Given the description of an element on the screen output the (x, y) to click on. 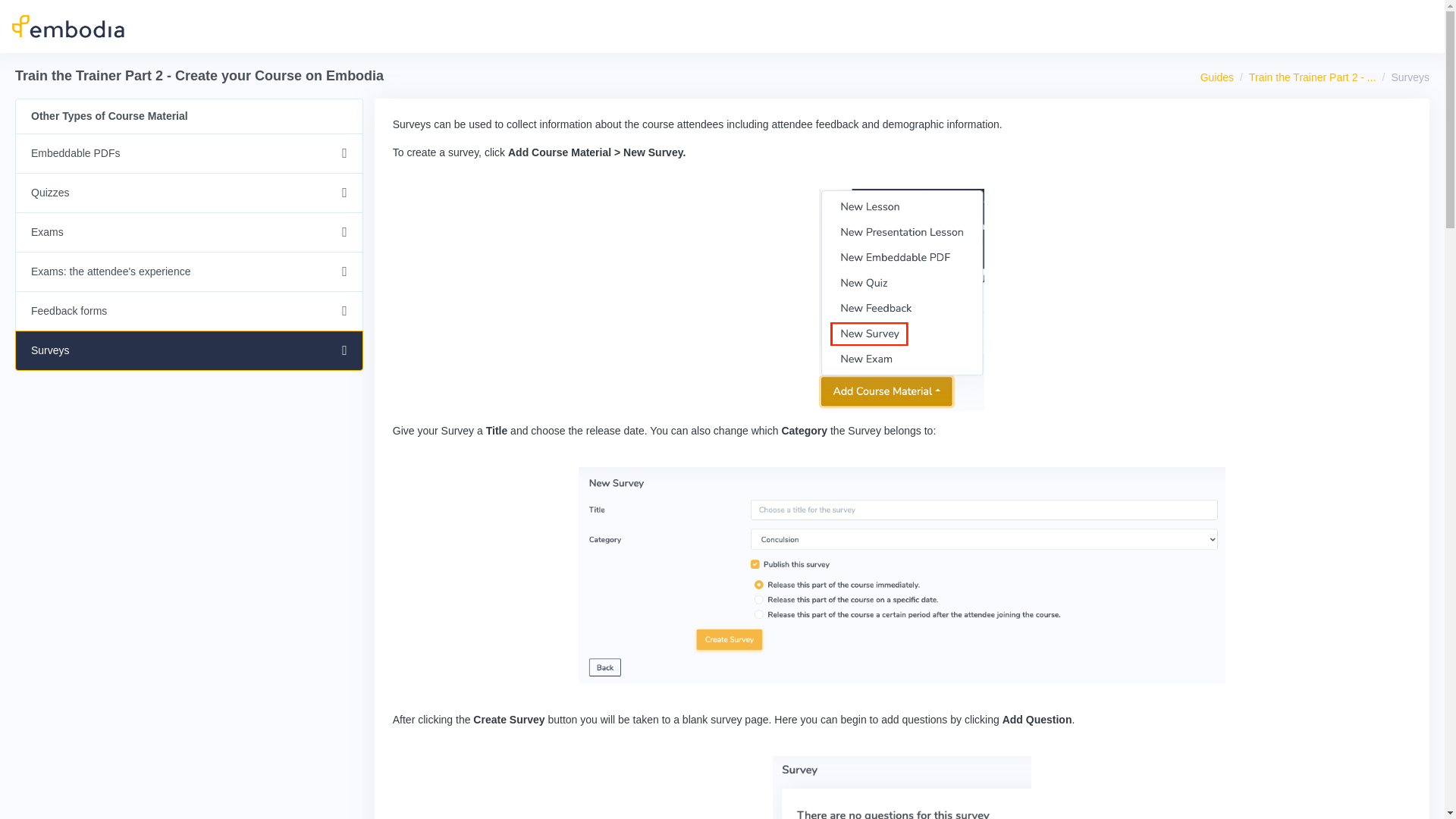
Surveys (188, 350)
Exams (188, 232)
Feedback forms (188, 311)
Embeddable PDFs (188, 153)
Exams: the attendee's experience (188, 271)
Guides (1216, 77)
Train the Trainer Part 2 - ... (1312, 77)
Quizzes (188, 192)
